Given the description of an element on the screen output the (x, y) to click on. 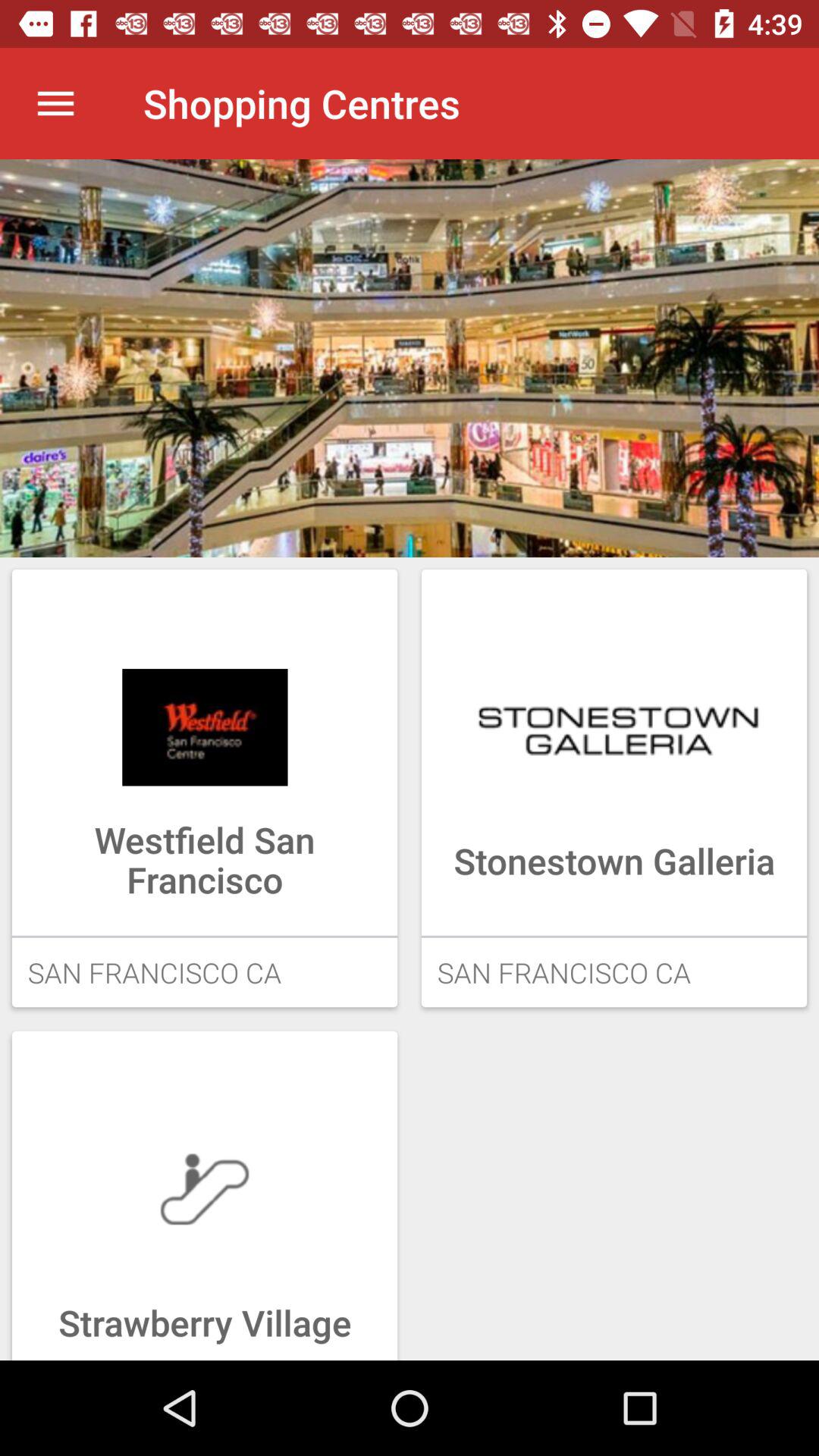
select the item to the left of shopping centres item (55, 103)
